Given the description of an element on the screen output the (x, y) to click on. 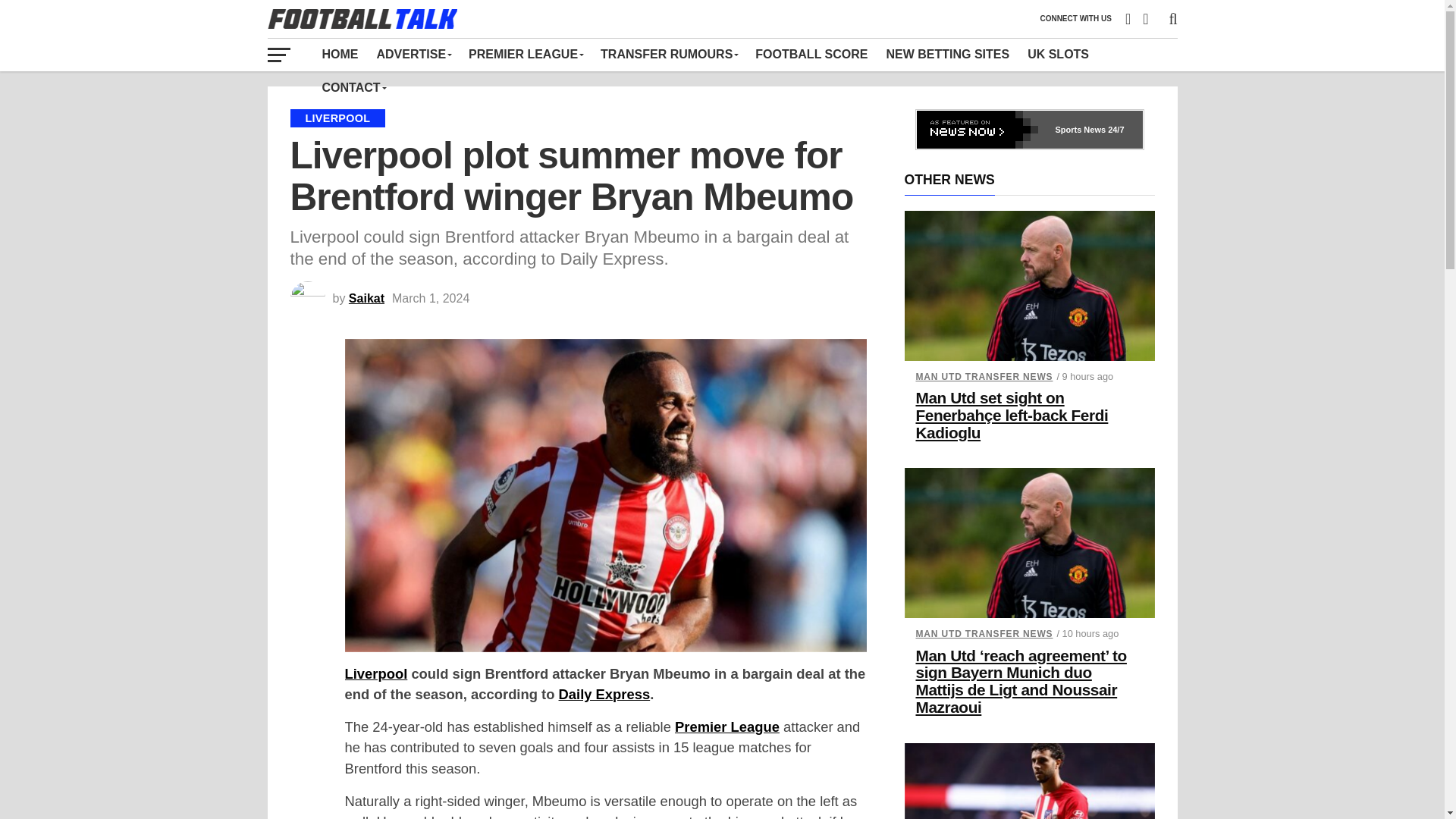
Advertise on Football-Talk (413, 54)
ADVERTISE (413, 54)
Premier League News (525, 54)
HOME (339, 54)
PREMIER LEAGUE (525, 54)
